Given the description of an element on the screen output the (x, y) to click on. 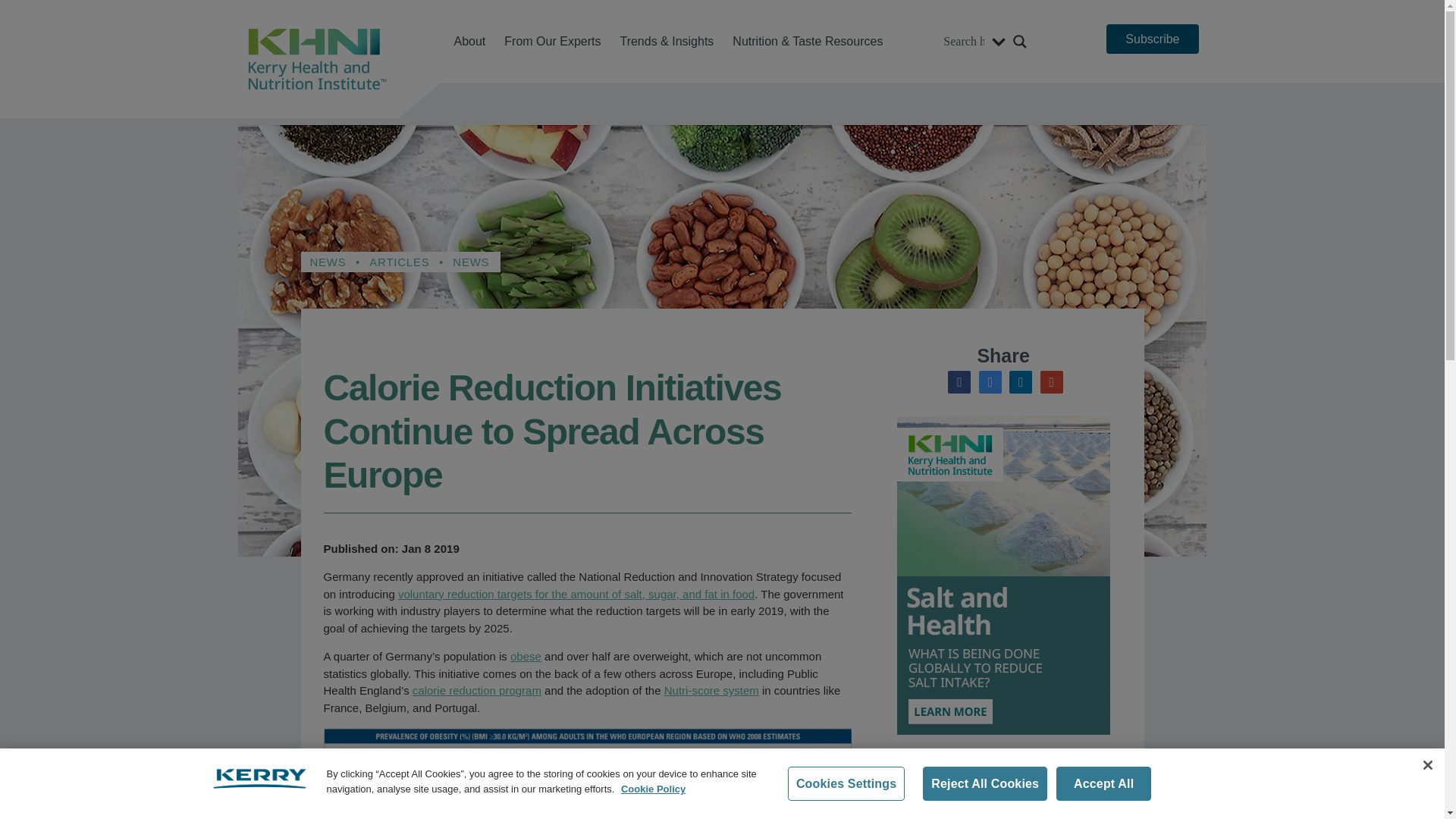
NEWS (470, 261)
Nutri-score system (710, 689)
ARTICLES (399, 261)
From Our Experts (551, 41)
About (468, 41)
NEWS (327, 261)
Subscribe (1152, 39)
obese (526, 656)
calorie reduction program (476, 689)
